Given the description of an element on the screen output the (x, y) to click on. 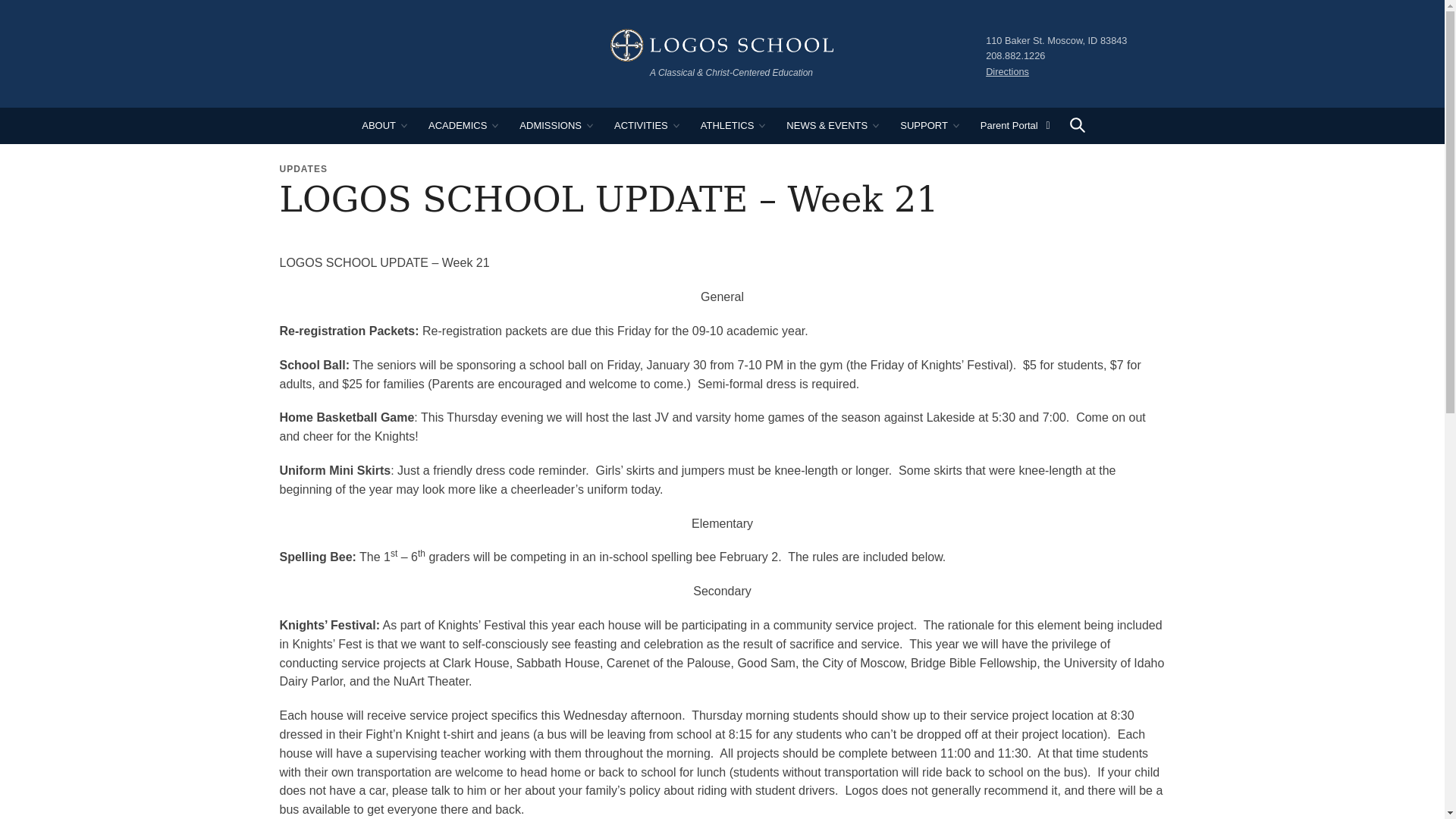
Admissions (555, 125)
208.882.1226 (1015, 55)
ATHLETICS (732, 125)
ABOUT (383, 125)
Activities (645, 125)
ACTIVITIES (645, 125)
ADMISSIONS (555, 125)
ACADEMICS (462, 125)
About (383, 125)
Directions (1007, 71)
